Given the description of an element on the screen output the (x, y) to click on. 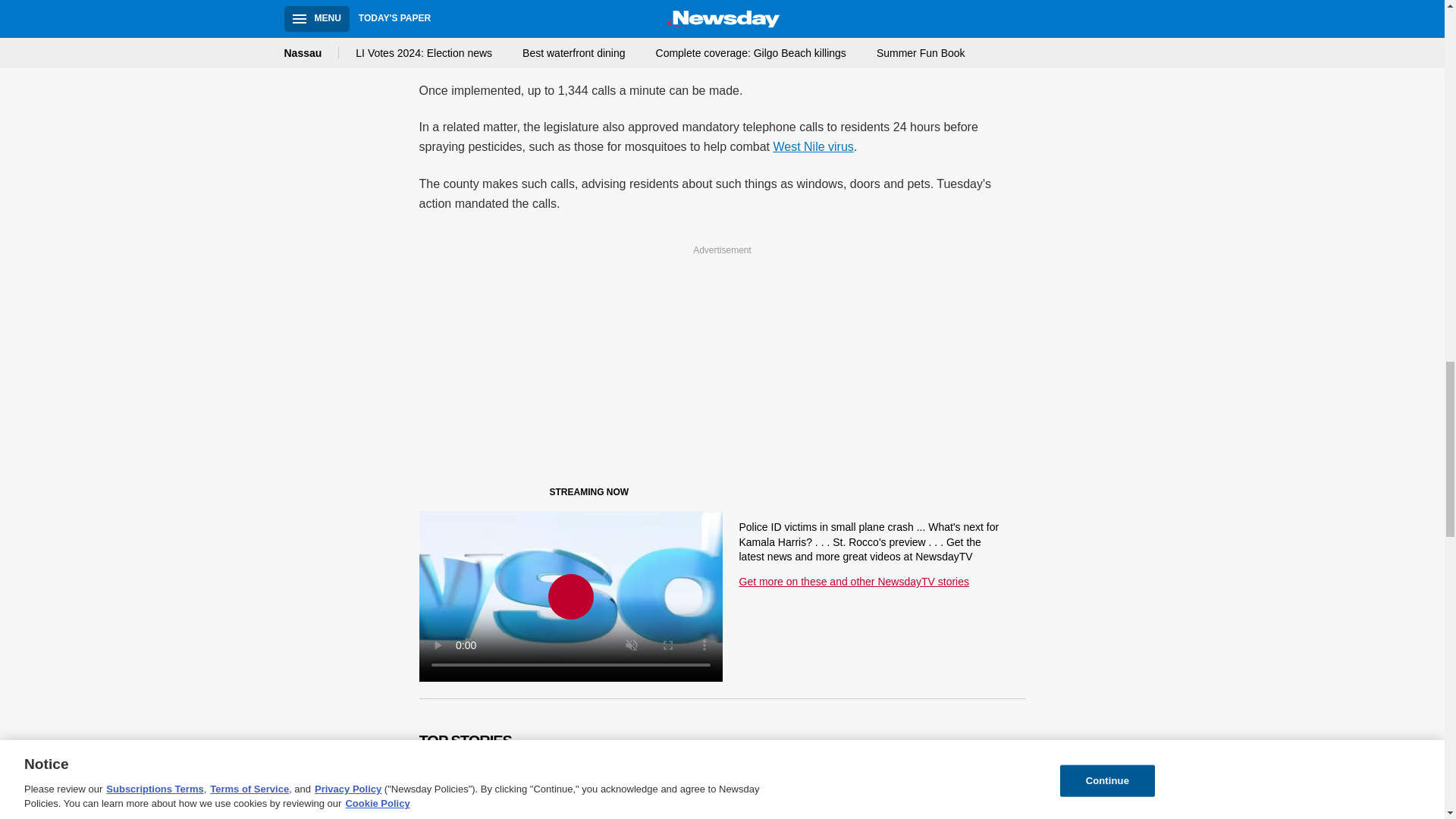
Play Video (569, 596)
West Nile virus (813, 146)
STREAMING NOW (530, 495)
